Given the description of an element on the screen output the (x, y) to click on. 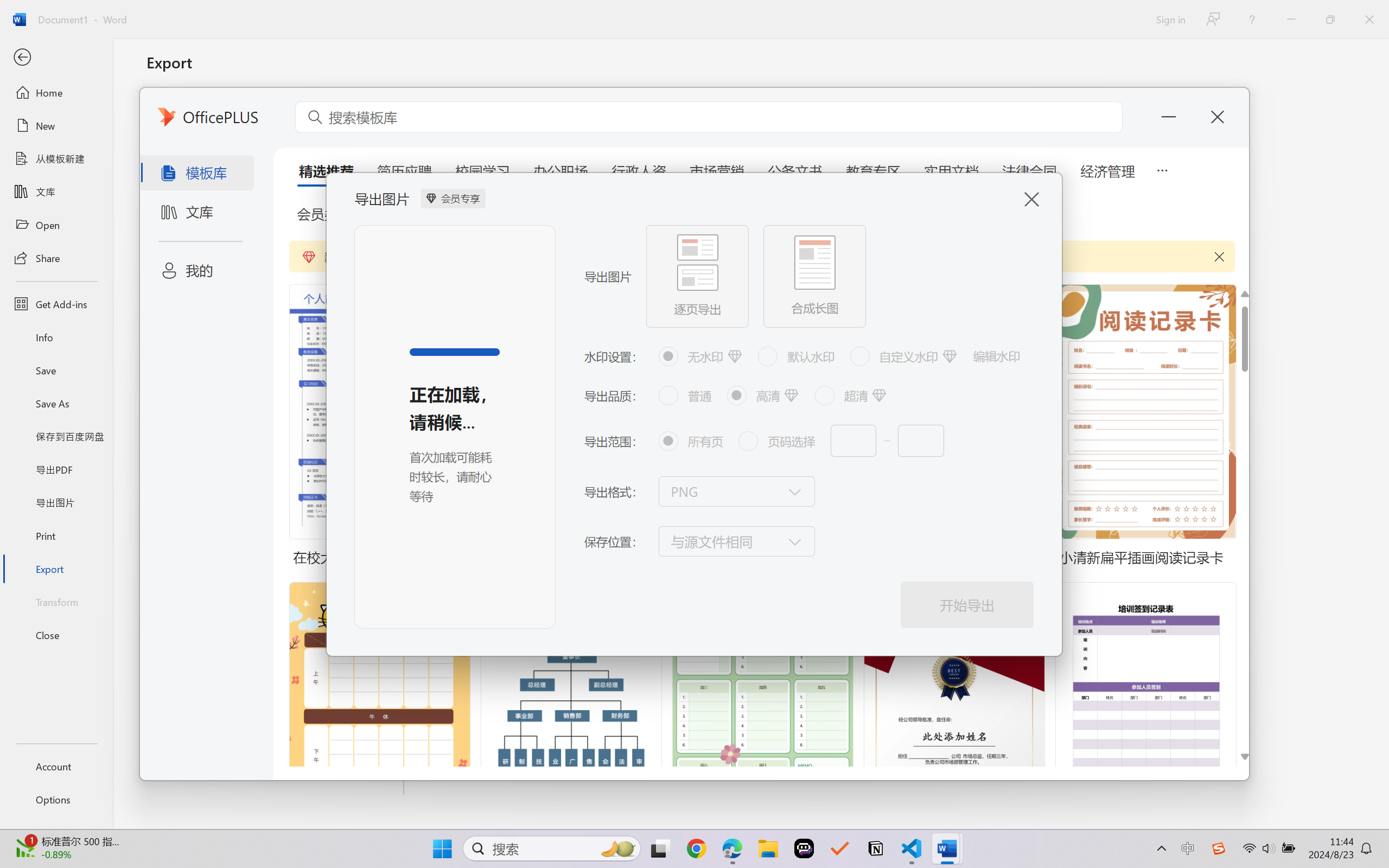
Info (56, 337)
Transform (56, 601)
